Given the description of an element on the screen output the (x, y) to click on. 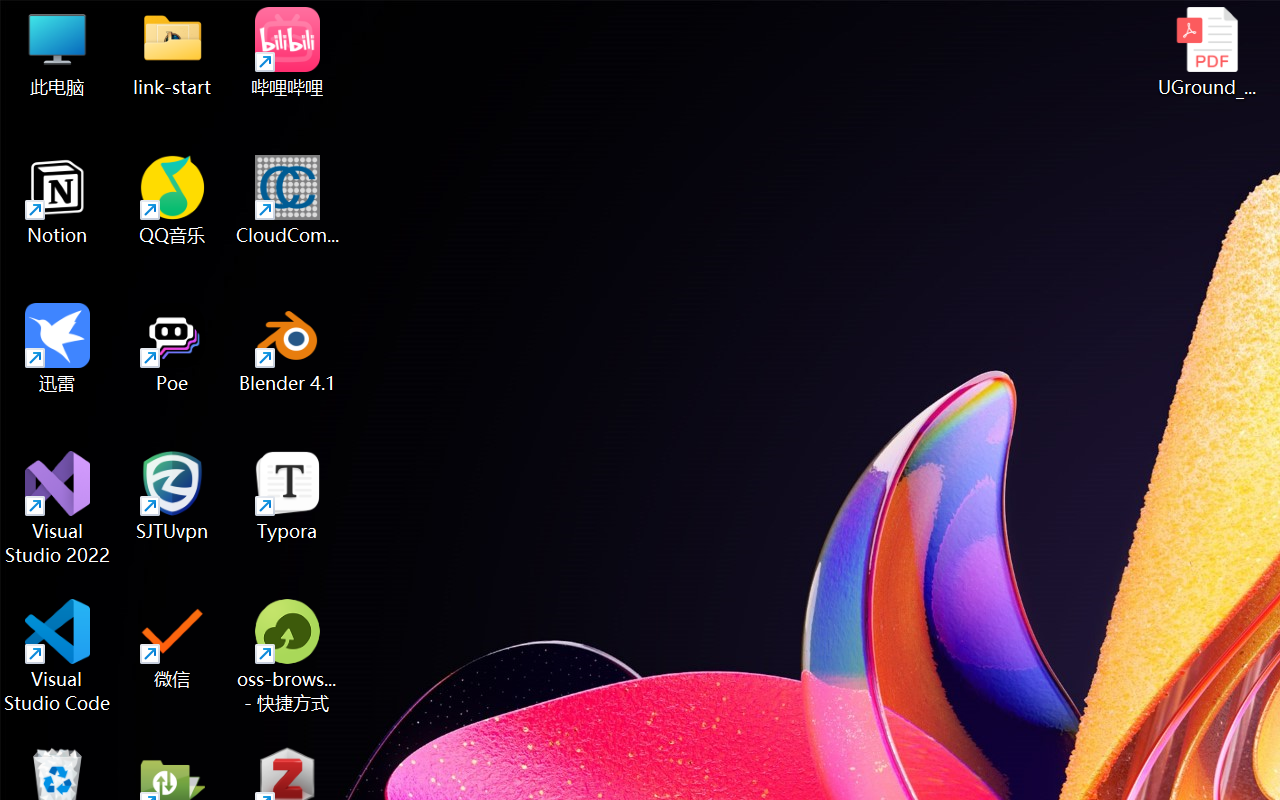
CloudCompare (287, 200)
Blender 4.1 (287, 348)
Visual Studio 2022 (57, 508)
Visual Studio Code (57, 656)
Notion (57, 200)
UGround_paper.pdf (1206, 52)
Typora (287, 496)
Poe (172, 348)
SJTUvpn (172, 496)
